Given the description of an element on the screen output the (x, y) to click on. 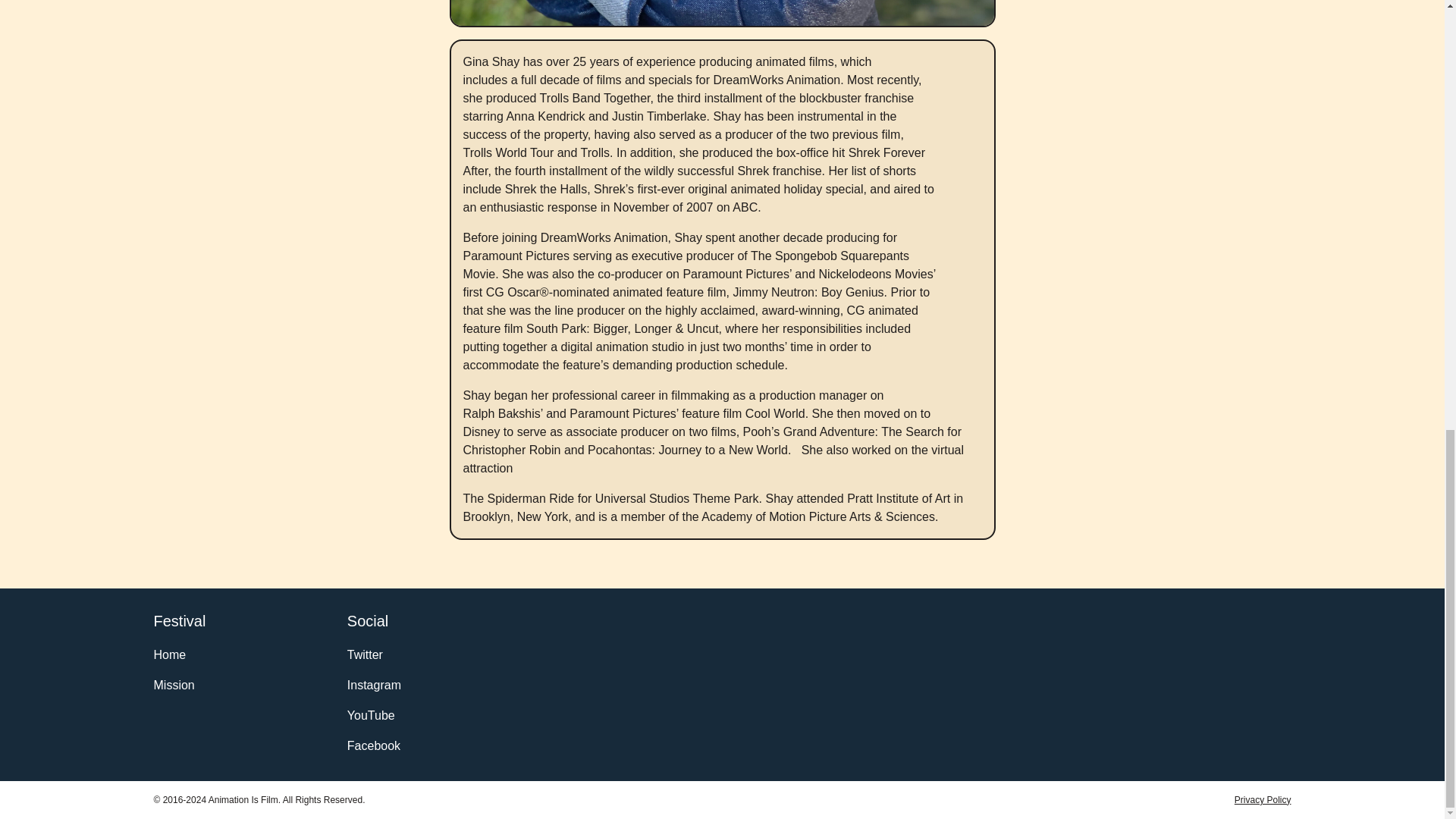
Instagram (426, 683)
Home (232, 653)
Facebook (426, 744)
YouTube (426, 713)
Mission (232, 683)
Privacy Policy (1262, 799)
Twitter (426, 653)
